Given the description of an element on the screen output the (x, y) to click on. 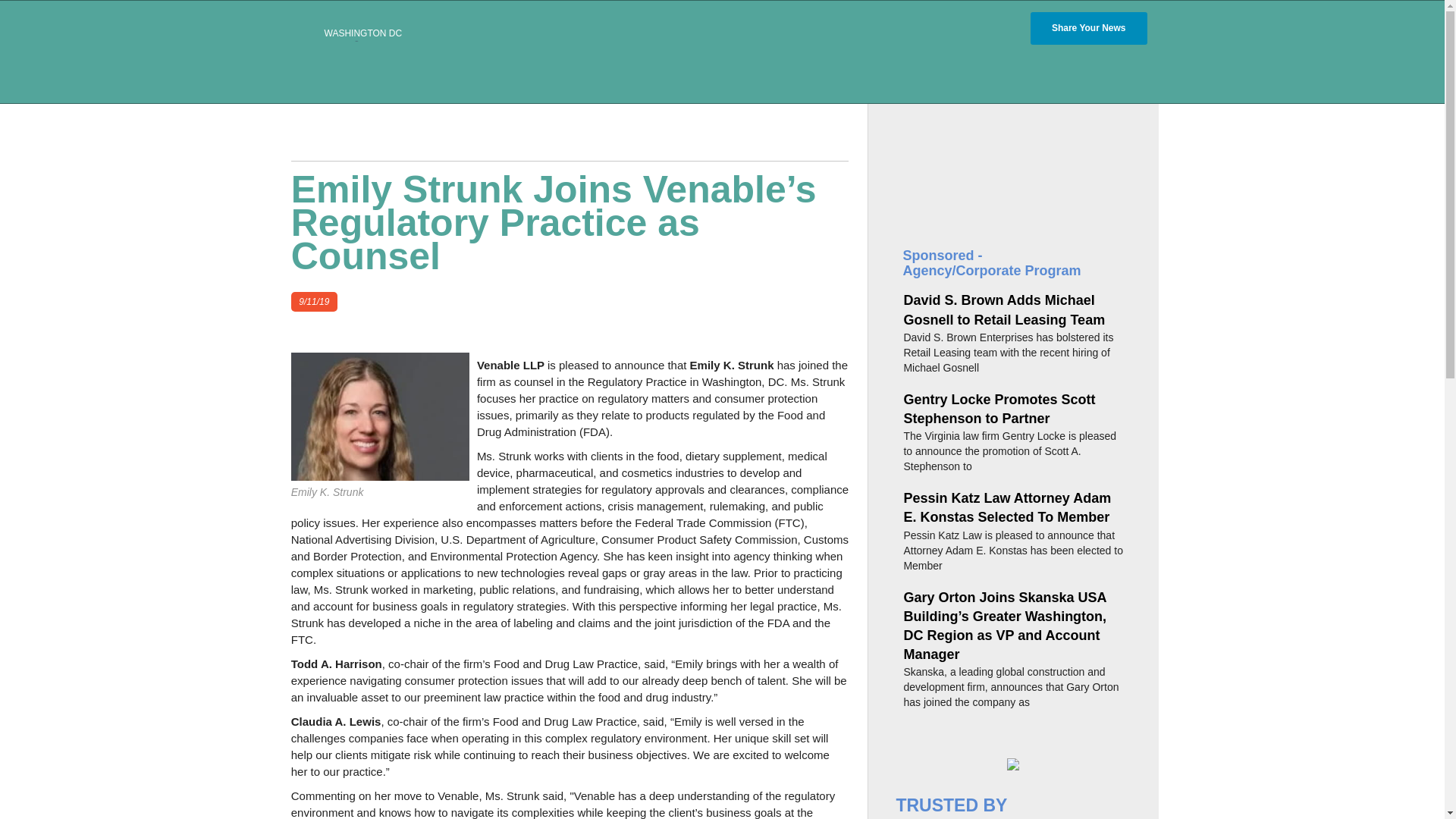
Gentry Locke Promotes Scott Stephenson to Partner (998, 408)
Share Your News (1088, 28)
David S. Brown Adds Michael Gosnell to Retail Leasing Team (1003, 309)
Pessin Katz Law Attorney Adam E. Konstas Selected To Member (1006, 507)
